Given the description of an element on the screen output the (x, y) to click on. 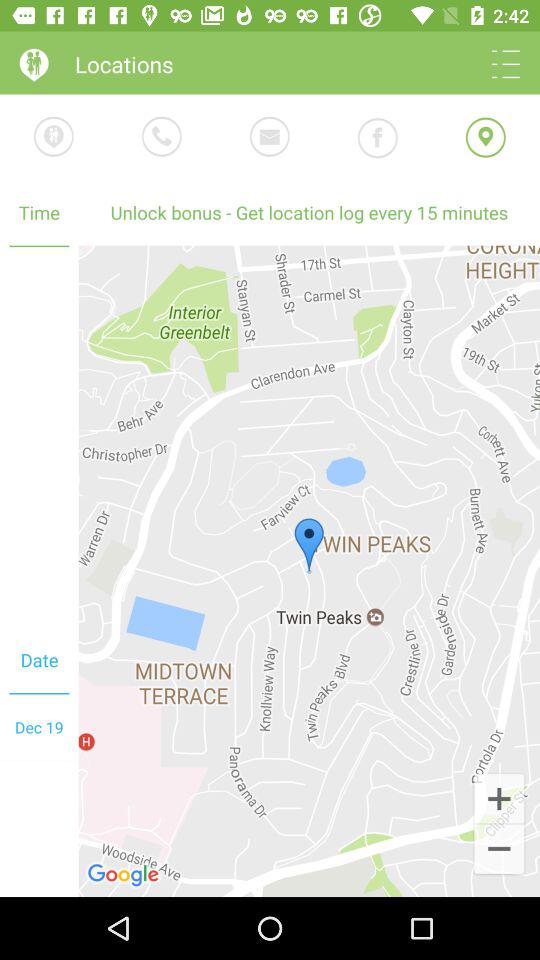
click the app to the right of time (309, 570)
